Given the description of an element on the screen output the (x, y) to click on. 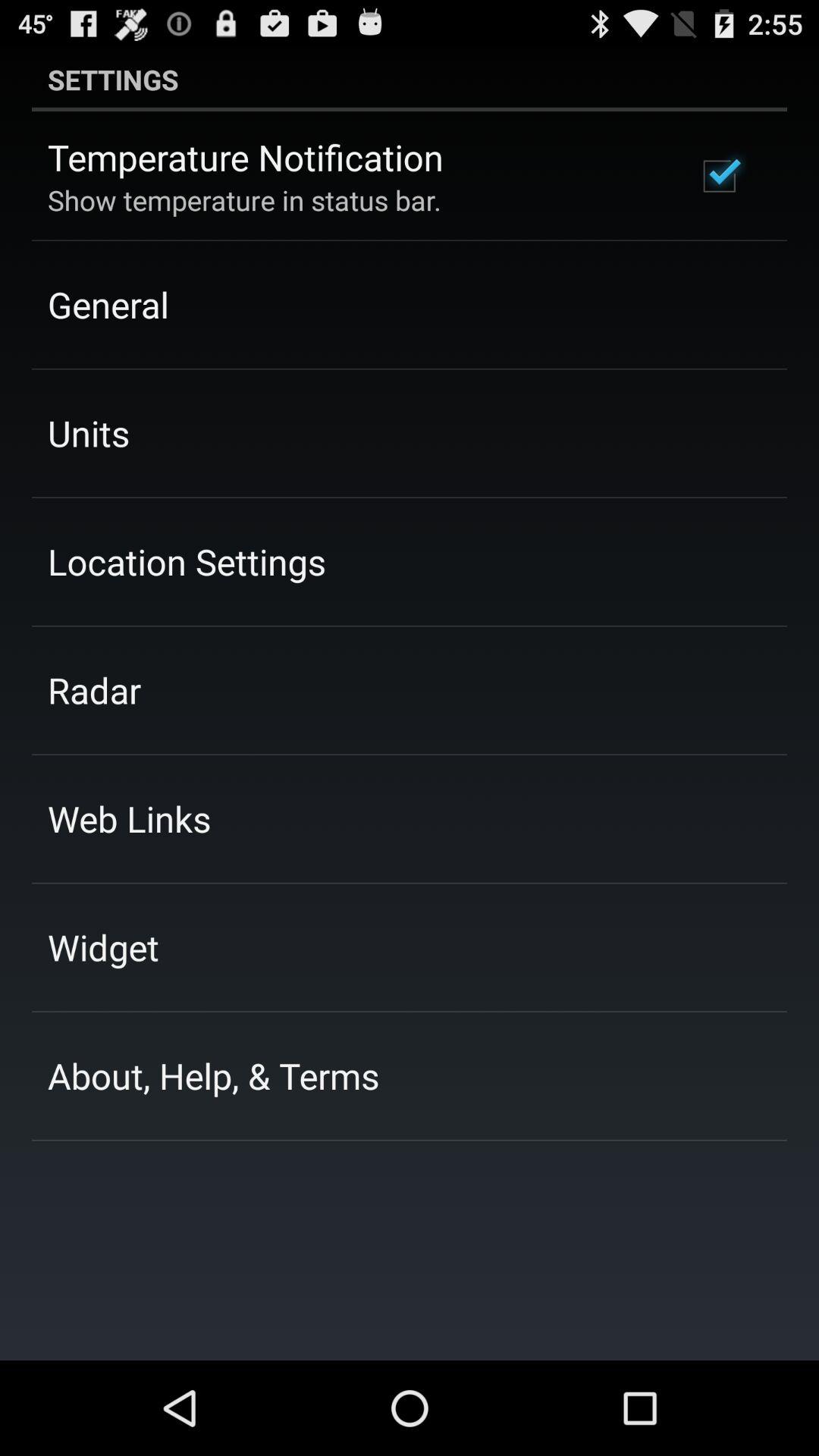
open the units (88, 432)
